Given the description of an element on the screen output the (x, y) to click on. 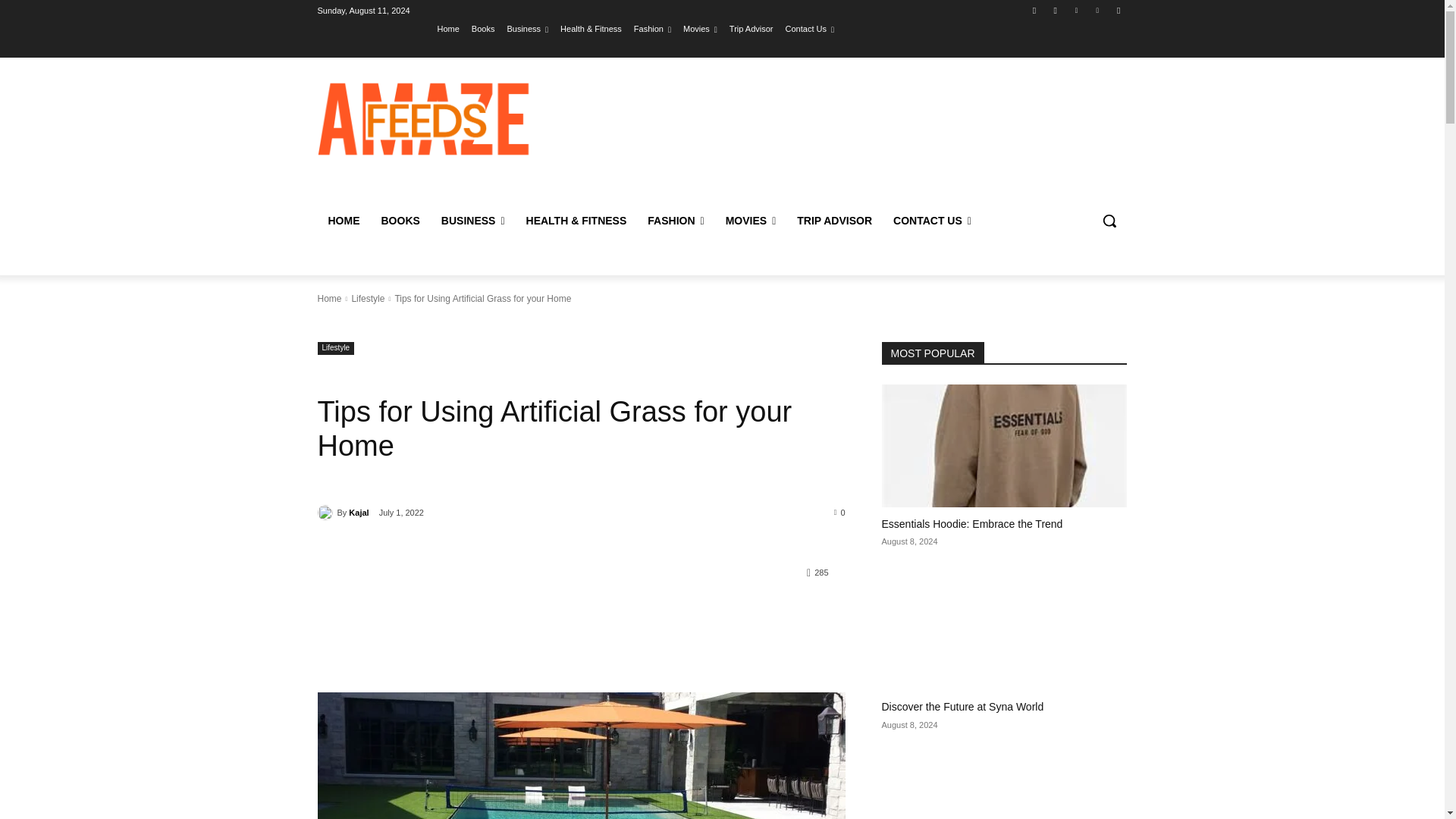
Home (449, 28)
Instagram (1055, 9)
Youtube (1117, 9)
Movies (699, 28)
Trip Advisor (751, 28)
View all posts in Lifestyle (367, 298)
Twitter (1075, 9)
Fashion (652, 28)
Kajal (326, 512)
Business (527, 28)
